Given the description of an element on the screen output the (x, y) to click on. 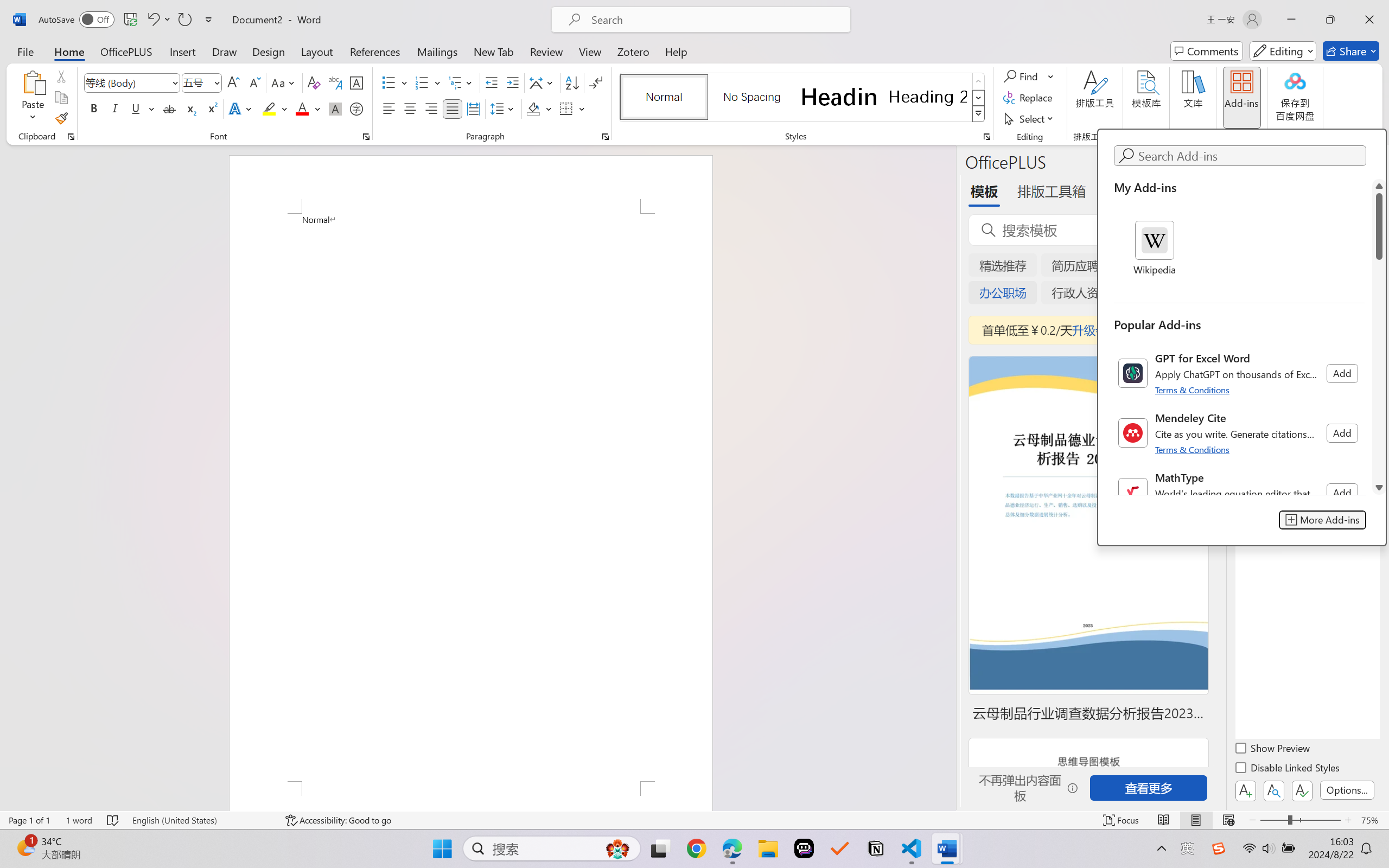
GPT for Excel Word (1239, 373)
Subscript (190, 108)
Class: Net UI Tool Window (1241, 336)
Copy (60, 97)
Multilevel List (461, 82)
Minimize (1291, 19)
Search Add-ins (1249, 155)
Bullets (395, 82)
Shading (539, 108)
Terms & Conditions (1193, 449)
Page down (1379, 369)
Show Preview (1273, 749)
Class: MsoCommandBar (694, 819)
